Given the description of an element on the screen output the (x, y) to click on. 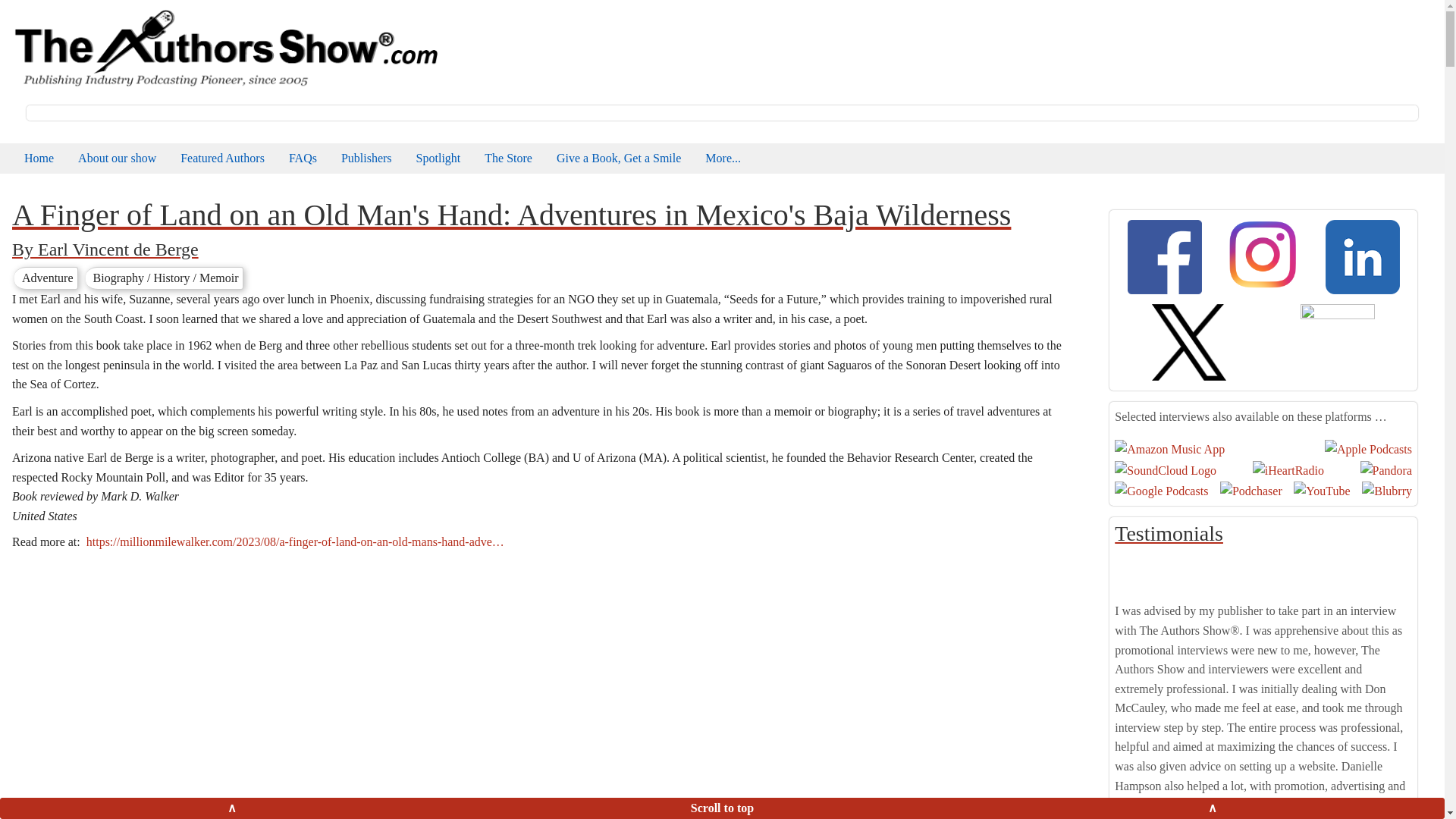
SoundCloud  (1165, 468)
Buy Expanded Book Marketing Program (507, 158)
Some of our top authors (222, 158)
Amazon Music  (1169, 448)
Apple Podcasts  (1368, 448)
Featured Authors (222, 158)
YouTube  (1321, 489)
Home (224, 47)
Spotlight on the business of being an author (438, 158)
Blurbrry  (1386, 489)
